Given the description of an element on the screen output the (x, y) to click on. 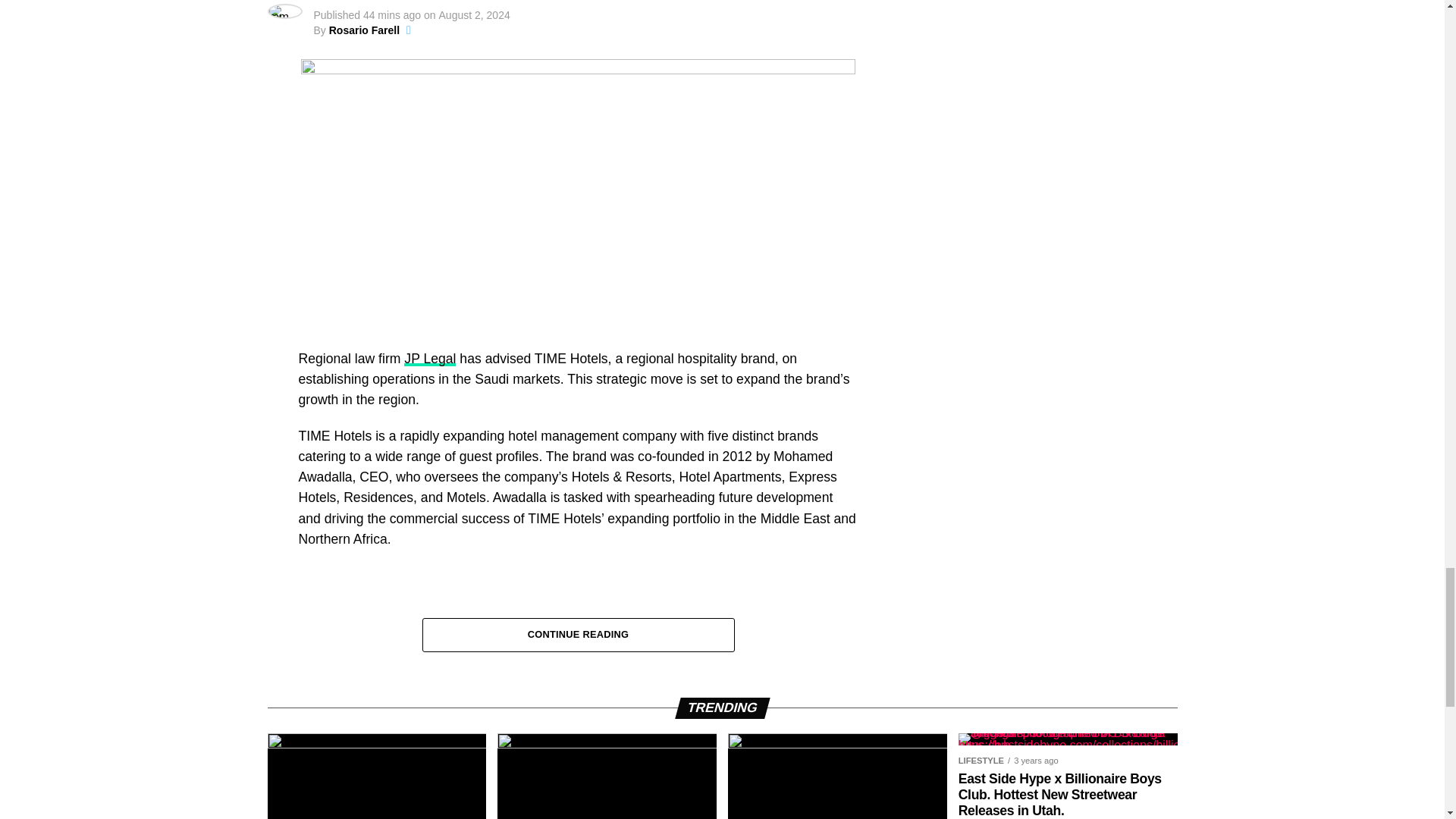
Rosario Farell (363, 30)
JP Legal (429, 358)
Posts by Rosario Farell (363, 30)
